Given the description of an element on the screen output the (x, y) to click on. 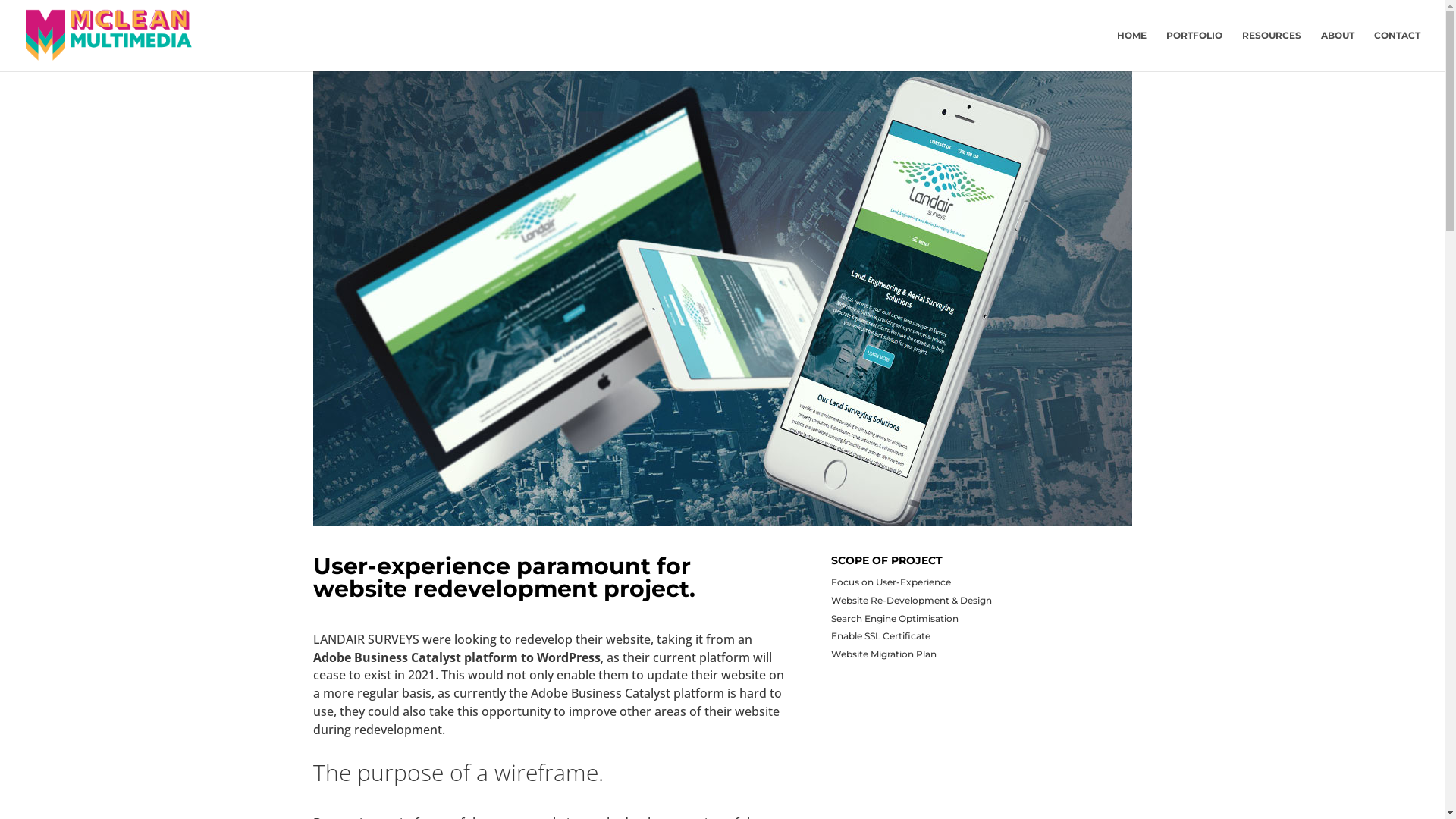
CONTACT Element type: text (1397, 50)
RESOURCES Element type: text (1271, 50)
HOME Element type: text (1131, 50)
PORTFOLIO Element type: text (1194, 50)
ABOUT Element type: text (1337, 50)
